Given the description of an element on the screen output the (x, y) to click on. 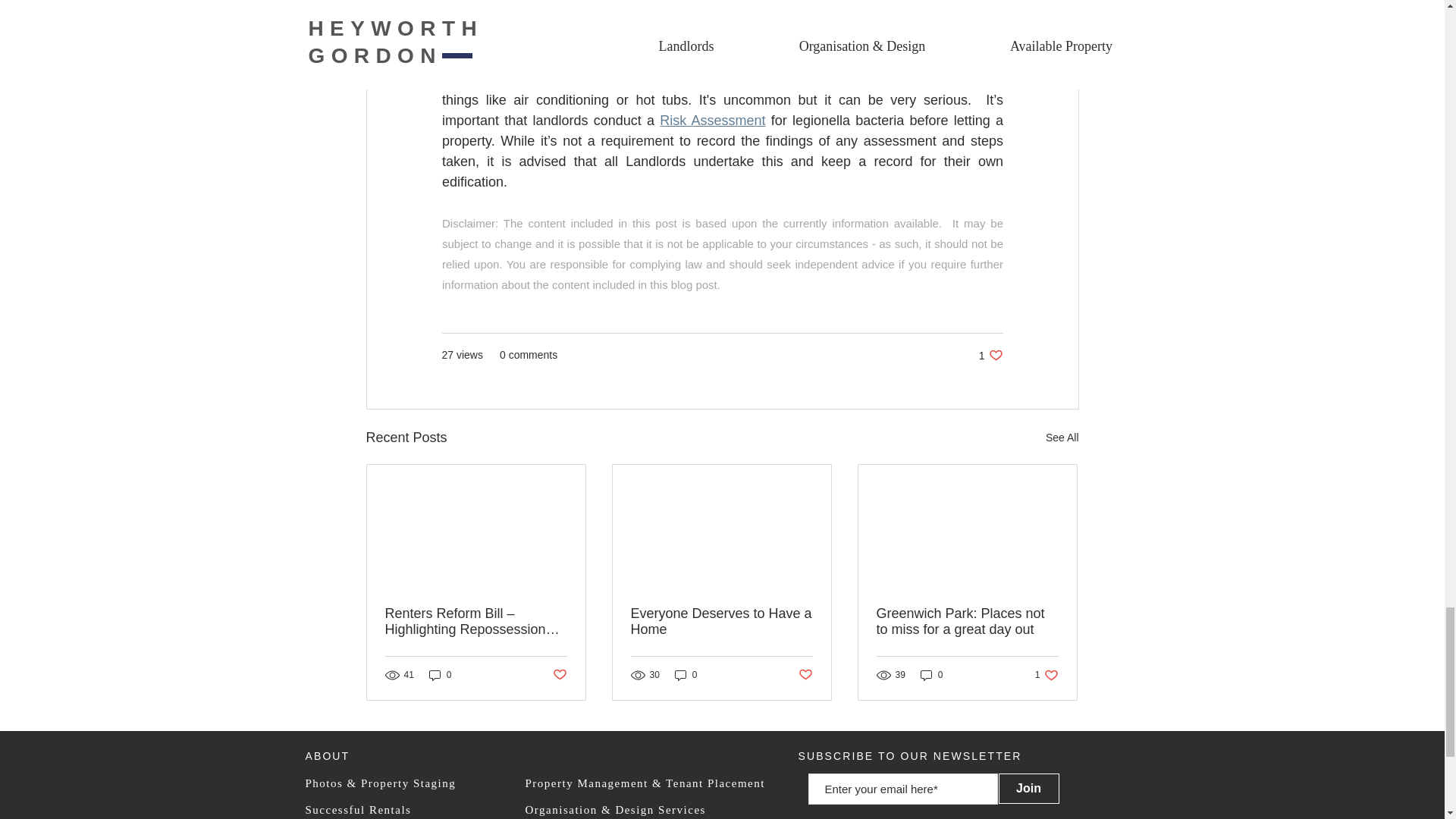
ABOUT (326, 756)
Successful Rentals (357, 809)
Everyone Deserves to Have a Home (721, 622)
0 (931, 675)
See All (1061, 437)
0 (1046, 675)
0 (440, 675)
Greenwich Park: Places not to miss for a great day out (685, 675)
Post not marked as liked (967, 622)
Legionnaires' disease (558, 675)
Risk Assessment (508, 79)
Post not marked as liked (990, 355)
